Given the description of an element on the screen output the (x, y) to click on. 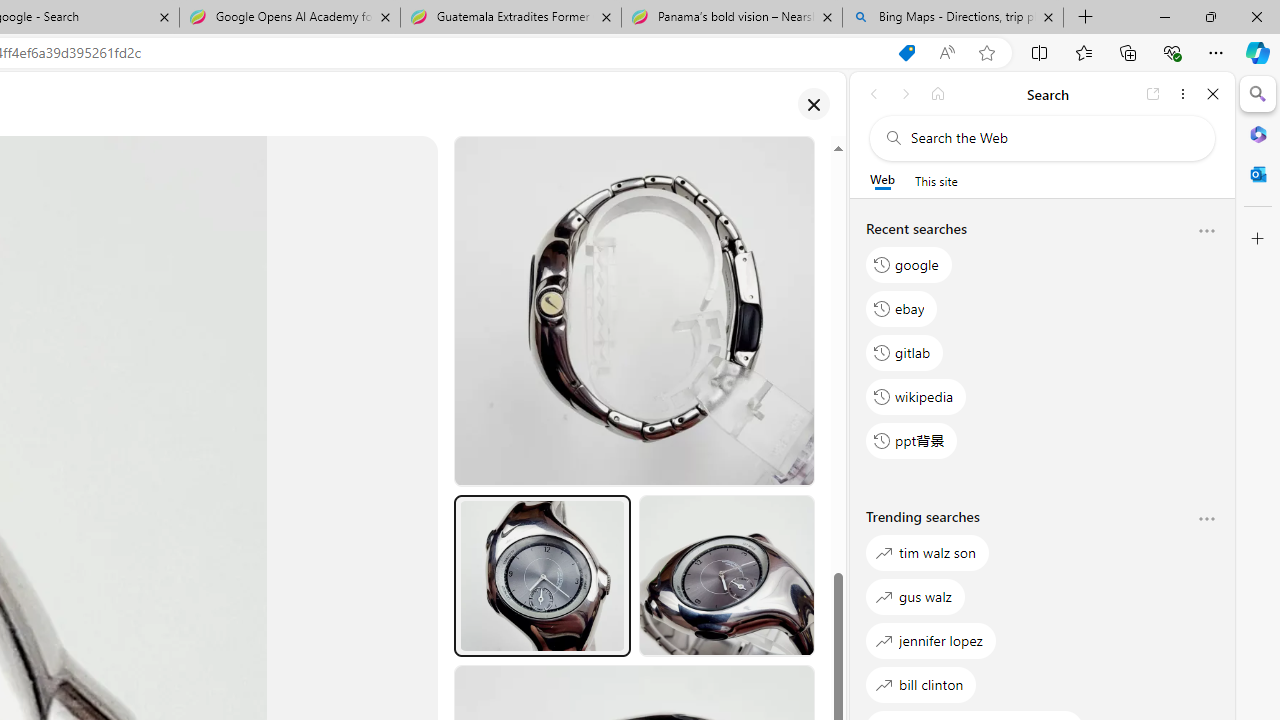
You have the best price! Shopping in Microsoft Edge (906, 53)
Web scope (882, 180)
tim walz son (927, 552)
Open link in new tab (1153, 93)
Google Opens AI Academy for Startups - Nearshore Americas (290, 17)
jennifer lopez (930, 640)
Close image gallery dialog (813, 103)
